Given the description of an element on the screen output the (x, y) to click on. 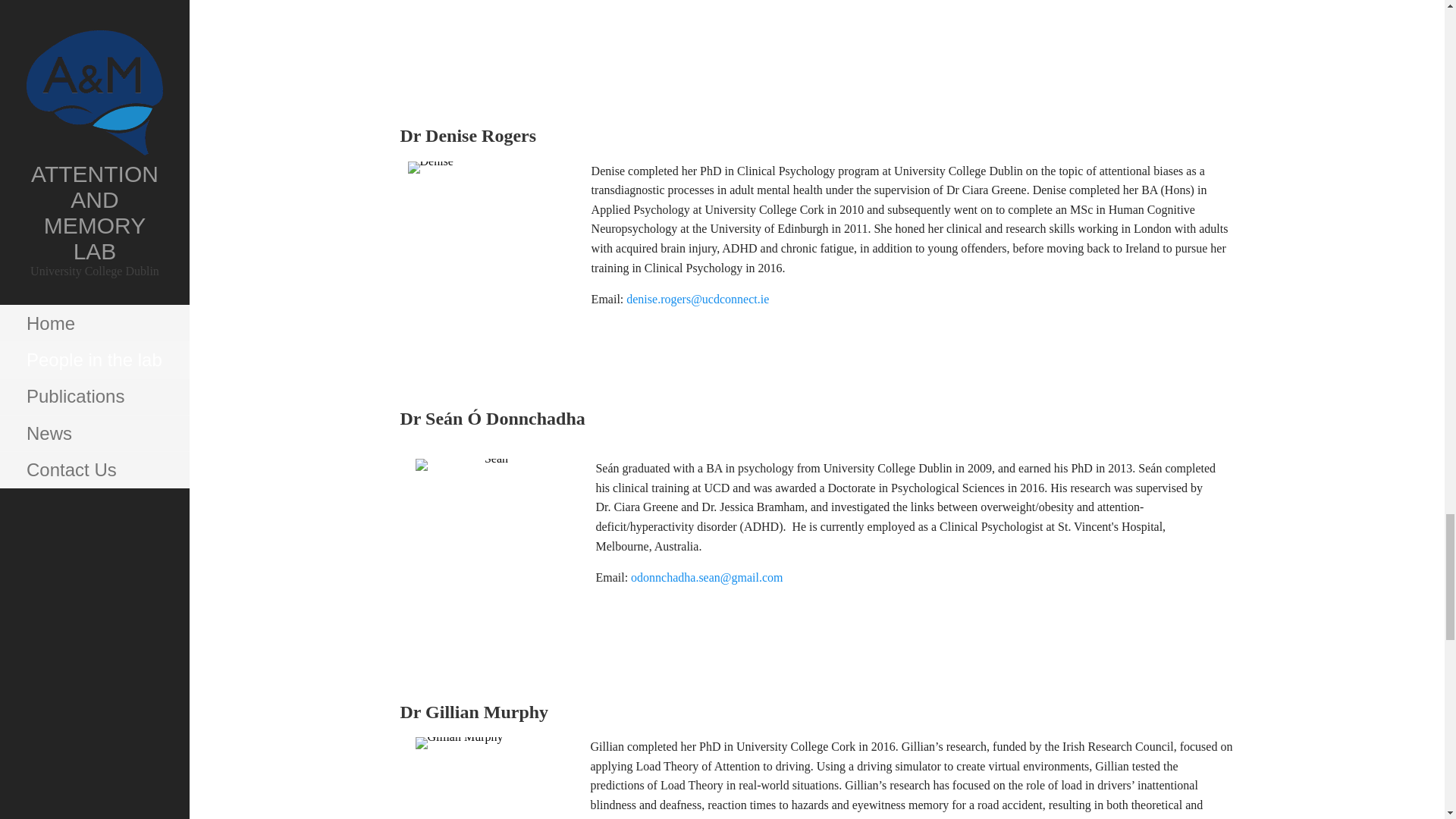
Gillian Murphy (494, 778)
RachelBates (492, 36)
